Given the description of an element on the screen output the (x, y) to click on. 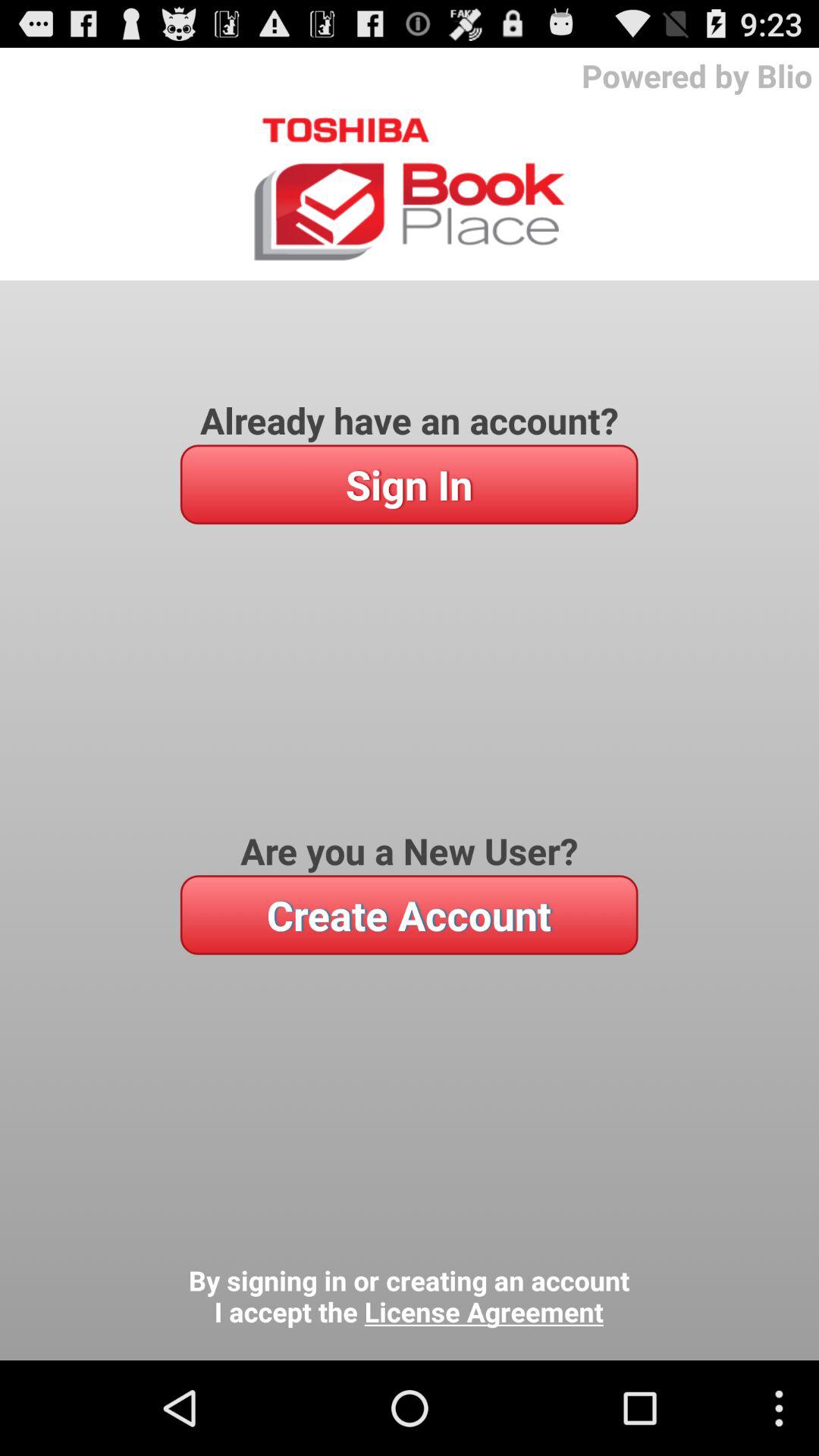
select the button above the by signing in icon (409, 914)
